Given the description of an element on the screen output the (x, y) to click on. 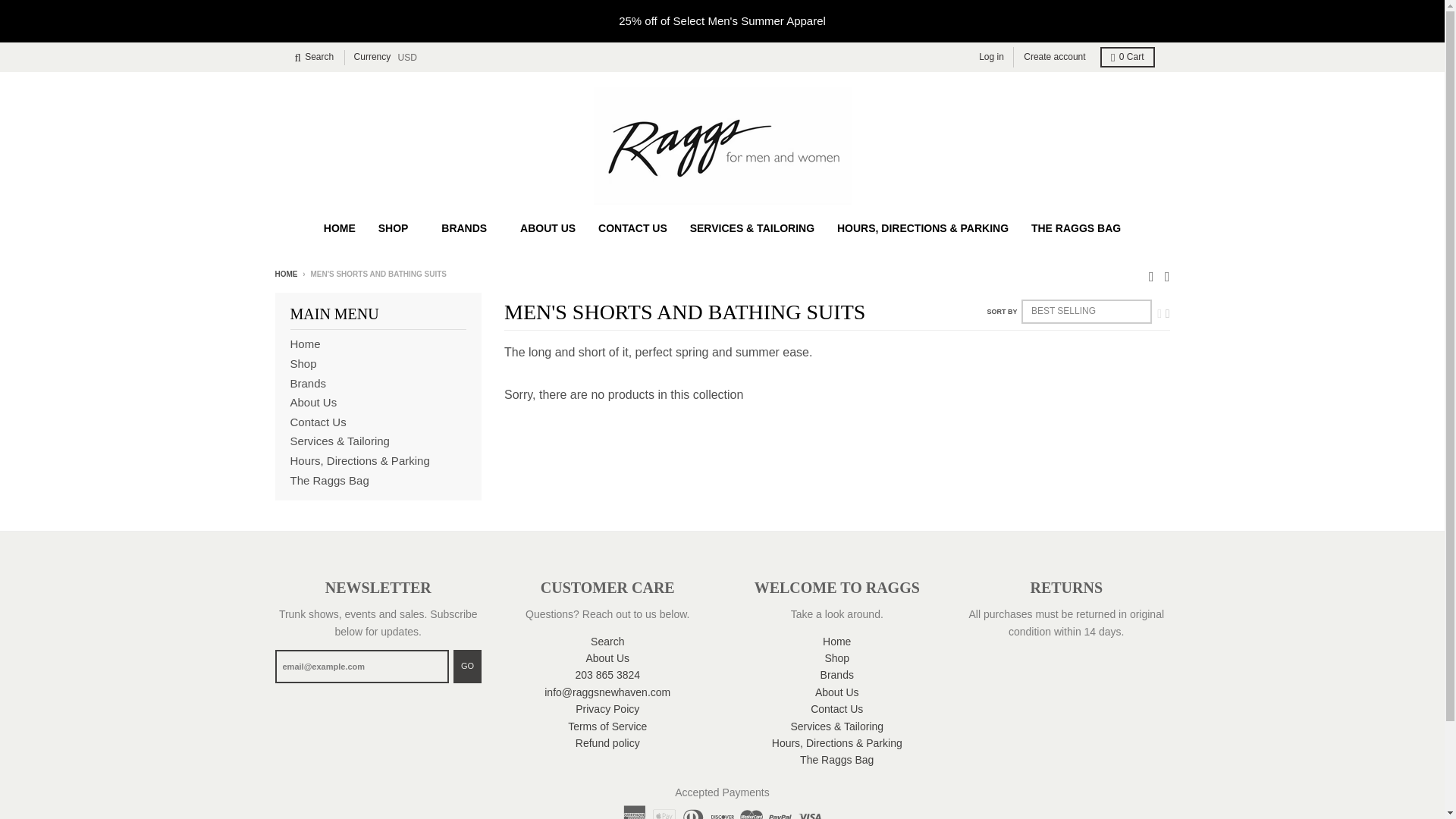
SHOP (398, 227)
Create account (1054, 56)
Search (313, 56)
HOME (339, 227)
Log in (991, 56)
Back to the frontpage (286, 274)
0 Cart (1127, 56)
